Given the description of an element on the screen output the (x, y) to click on. 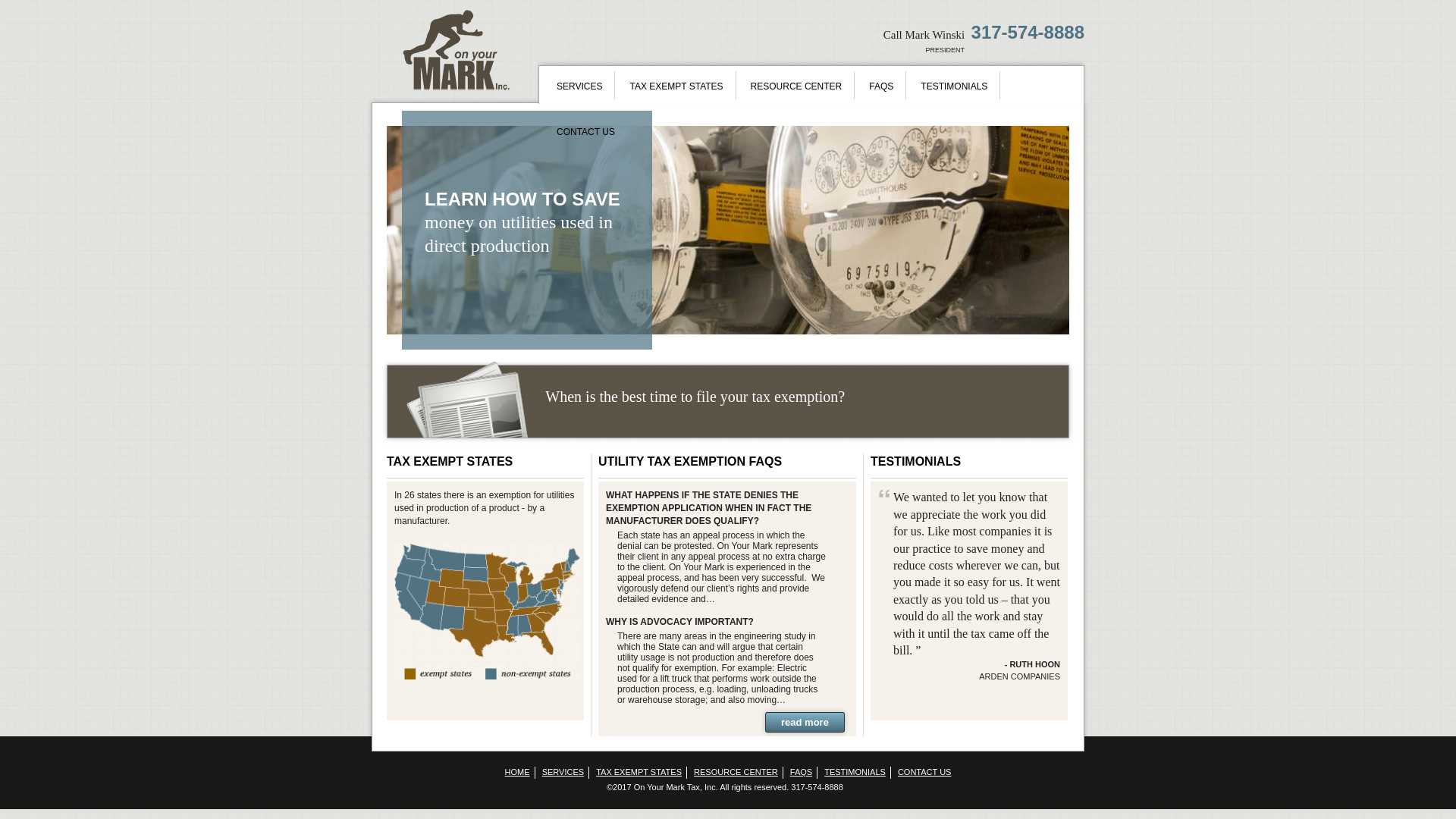
TAX EXEMPT STATES (449, 461)
CONTACT US (924, 772)
FAQS (801, 772)
TESTIMONIALS (954, 81)
TAX EXEMPT STATES (639, 772)
TESTIMONIALS (855, 772)
TAX EXEMPT STATES (675, 81)
CONTACT US (585, 126)
HOME (517, 772)
RESOURCE CENTER (796, 81)
TESTIMONIALS (915, 461)
UTILITY TAX EXEMPTION FAQS (689, 461)
317-574-8888 (1027, 32)
read more (804, 721)
